Given the description of an element on the screen output the (x, y) to click on. 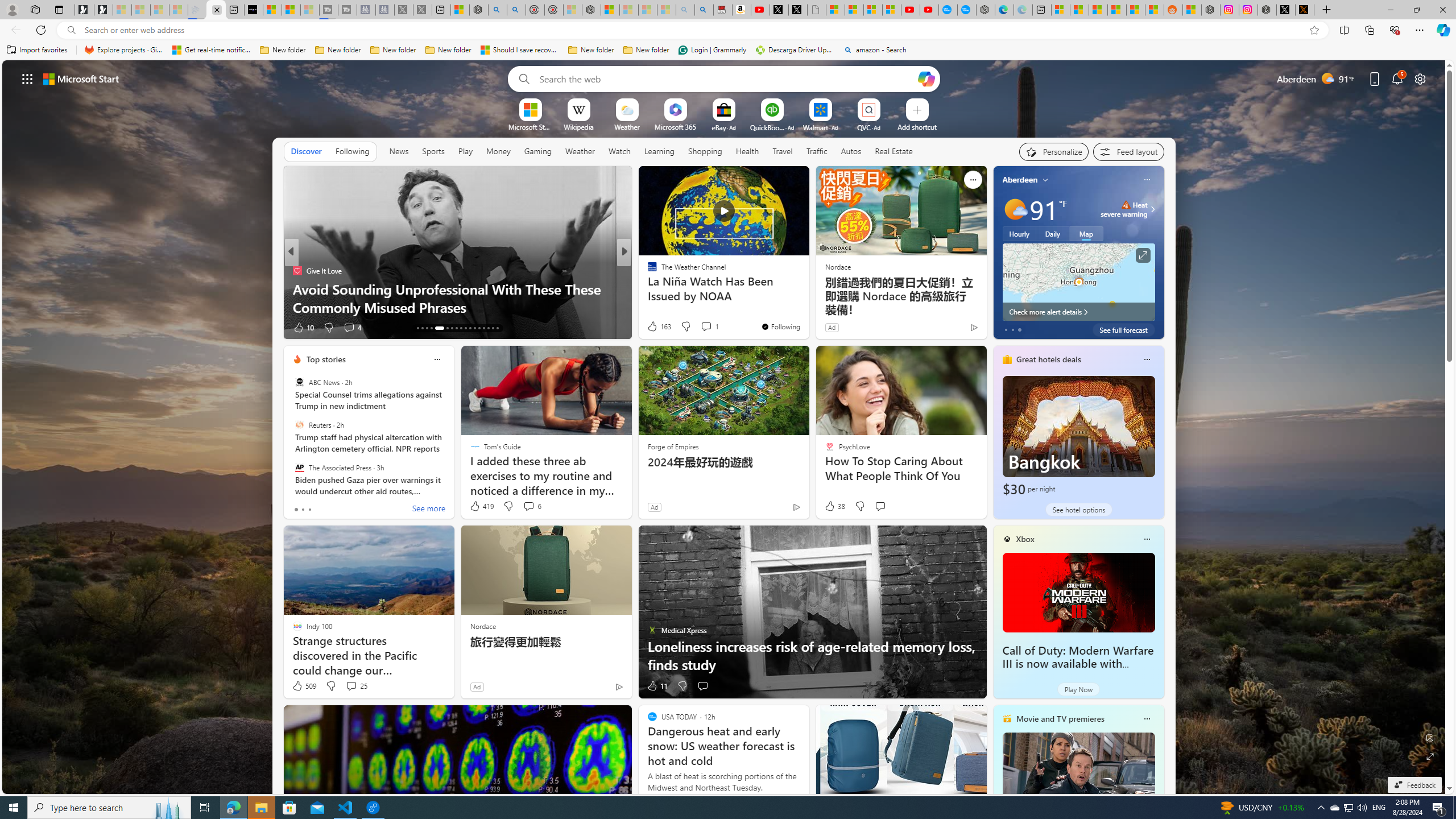
Class: weather-arrow-glyph (1152, 208)
Shopping (705, 151)
ABC News (299, 382)
Nordace - Nordace has arrived Hong Kong (985, 9)
Health (746, 151)
Learning (659, 151)
Day 1: Arriving in Yemen (surreal to be here) - YouTube (759, 9)
hotels-header-icon (1006, 358)
Personalize your feed" (1054, 151)
Import favorites (36, 49)
Forge of Empires (672, 446)
